Given the description of an element on the screen output the (x, y) to click on. 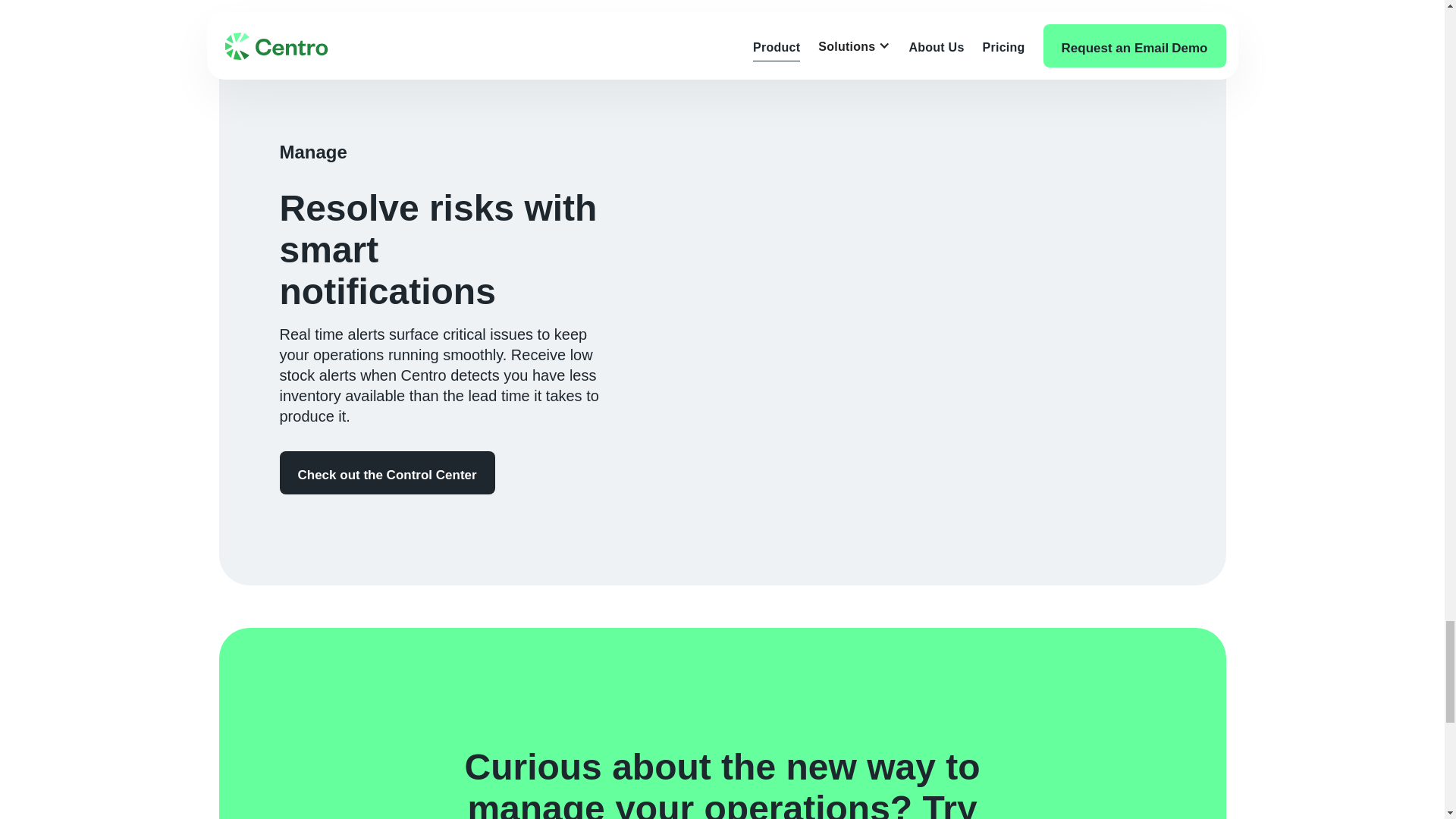
Check out the Control Center (387, 472)
